Given the description of an element on the screen output the (x, y) to click on. 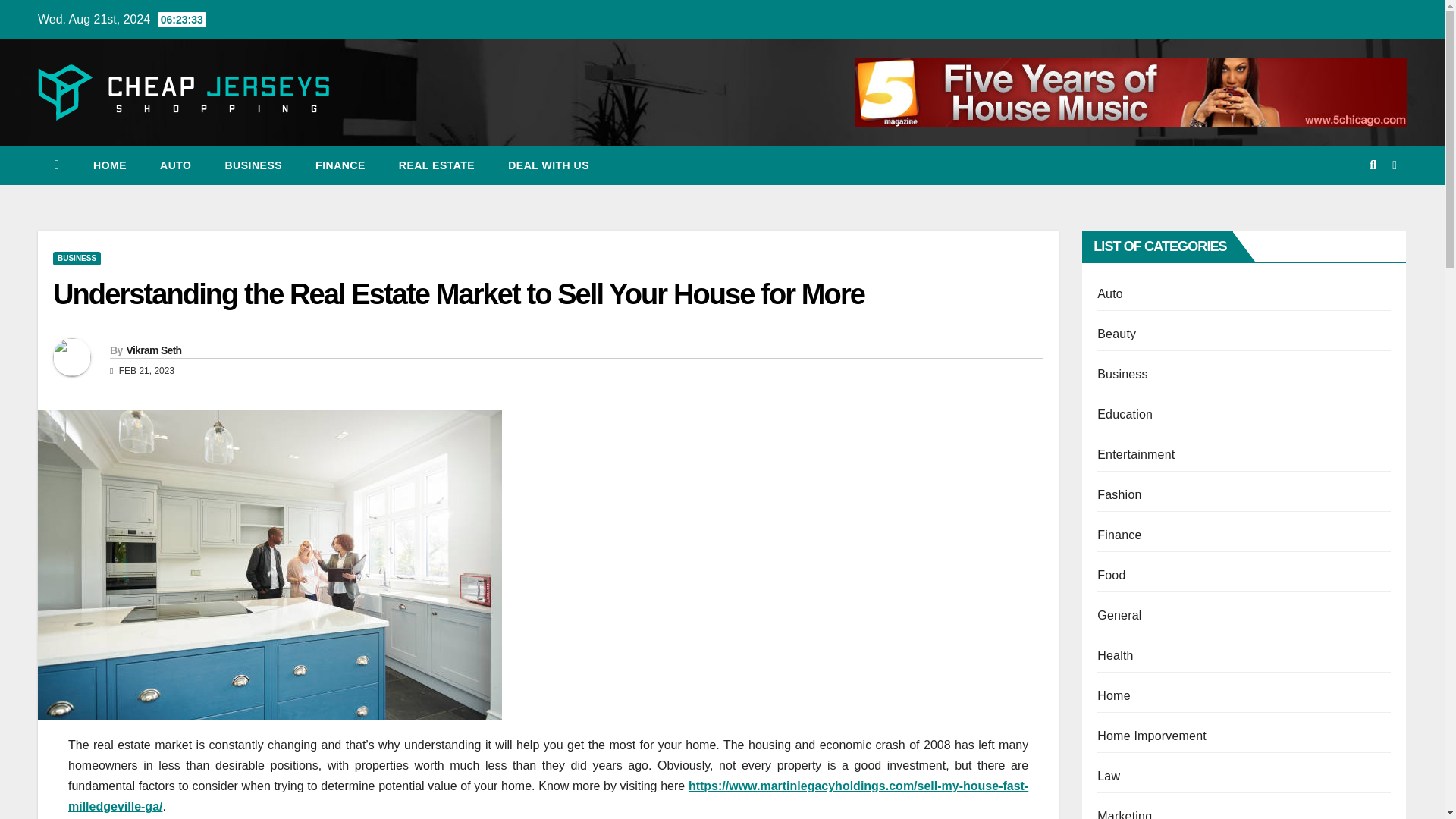
BUSINESS (76, 258)
Real Estate (436, 165)
Vikram Seth (152, 349)
Home (109, 165)
Business (253, 165)
REAL ESTATE (436, 165)
BUSINESS (253, 165)
Finance (339, 165)
AUTO (175, 165)
